Given the description of an element on the screen output the (x, y) to click on. 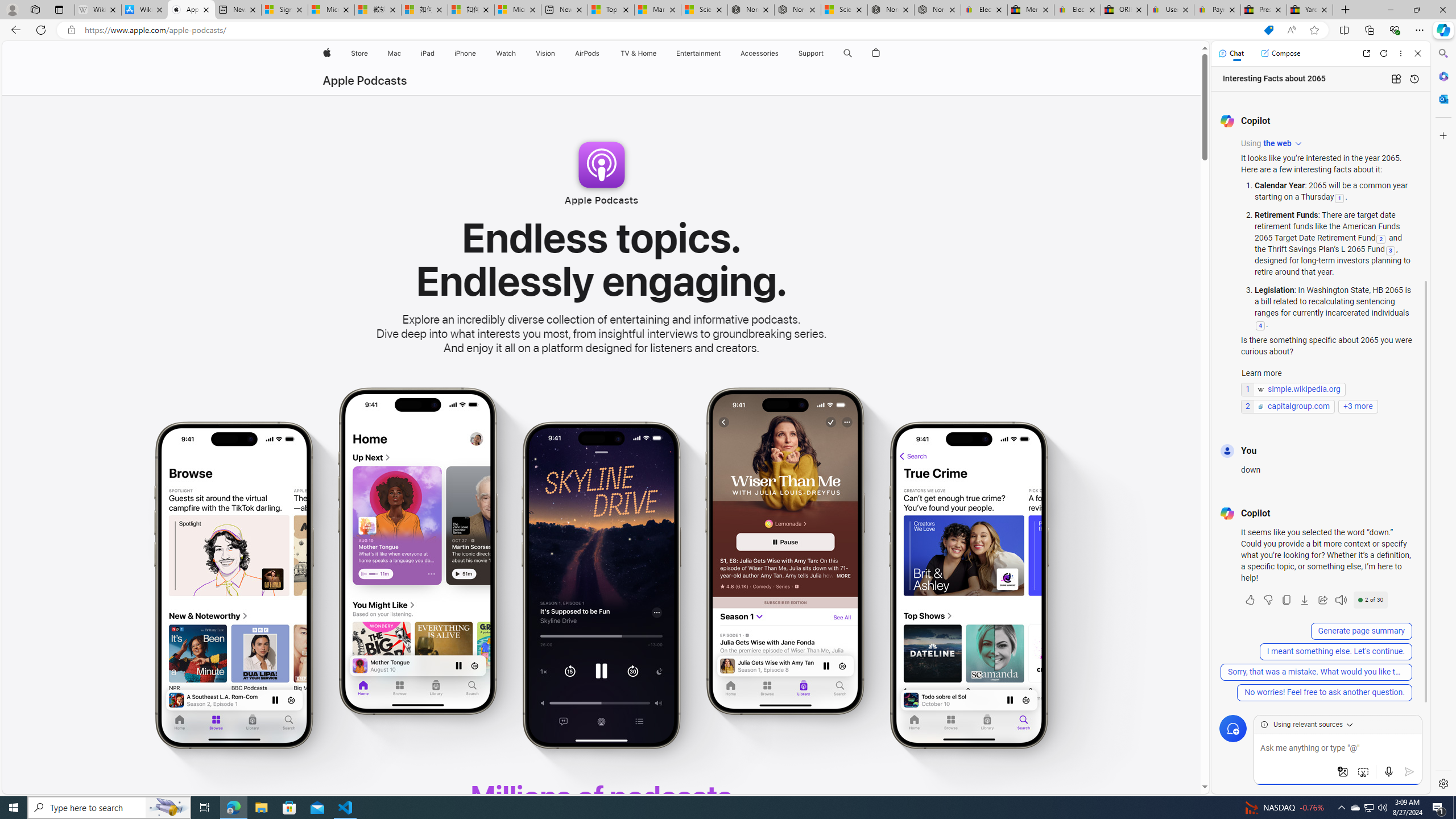
Vision (545, 53)
Apple Podcasts - Apple (191, 9)
Apple (325, 53)
Support (810, 53)
Apple Podcasts (364, 80)
Support menu (825, 53)
Microsoft account | Account Checkup (517, 9)
Search apple.com (847, 53)
AirPods menu (601, 53)
